Given the description of an element on the screen output the (x, y) to click on. 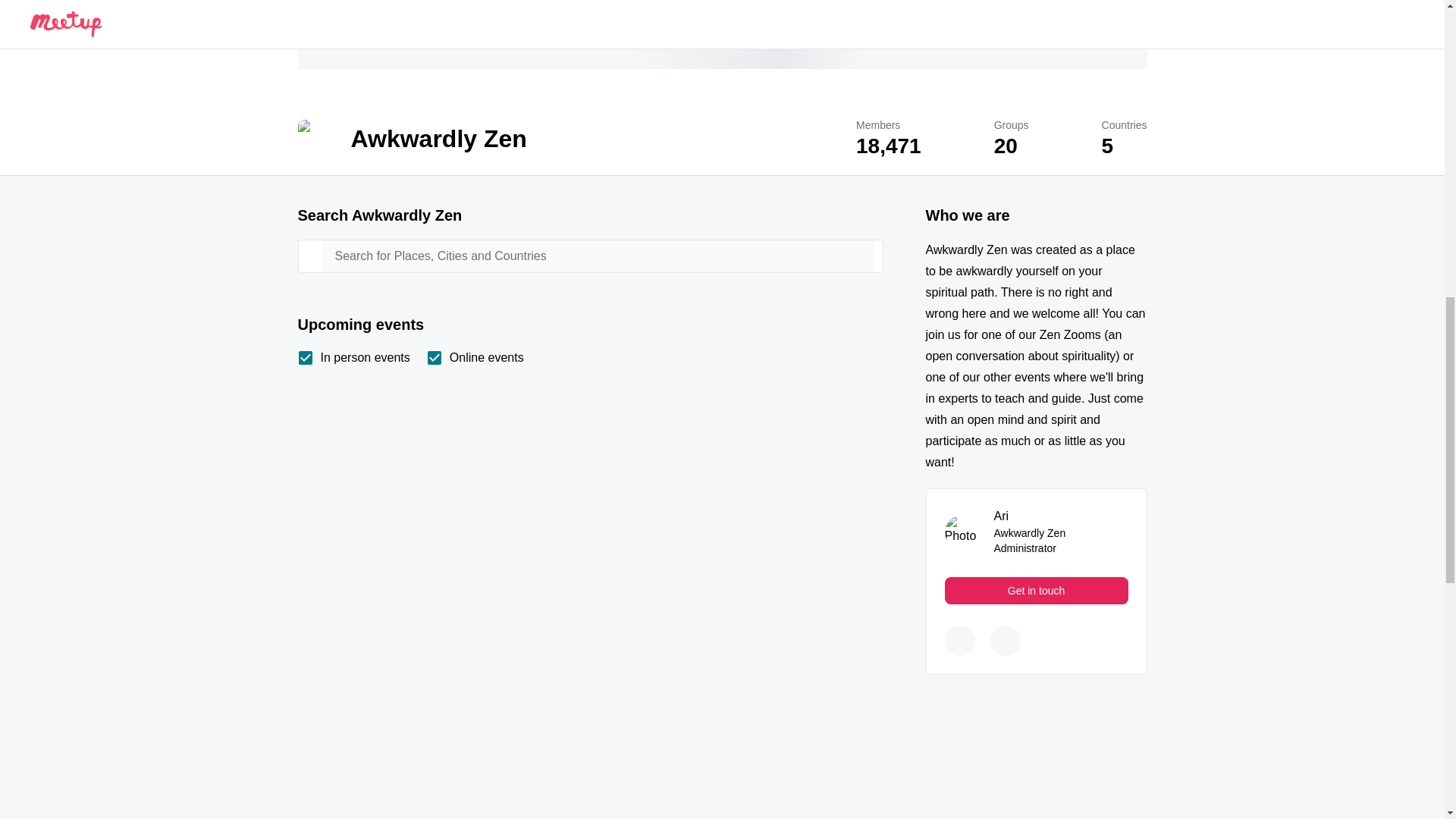
Ari (1000, 515)
Get in touch (1036, 590)
Get in touch (1036, 590)
Awkwardly Zen  Administrator (1000, 515)
